Given the description of an element on the screen output the (x, y) to click on. 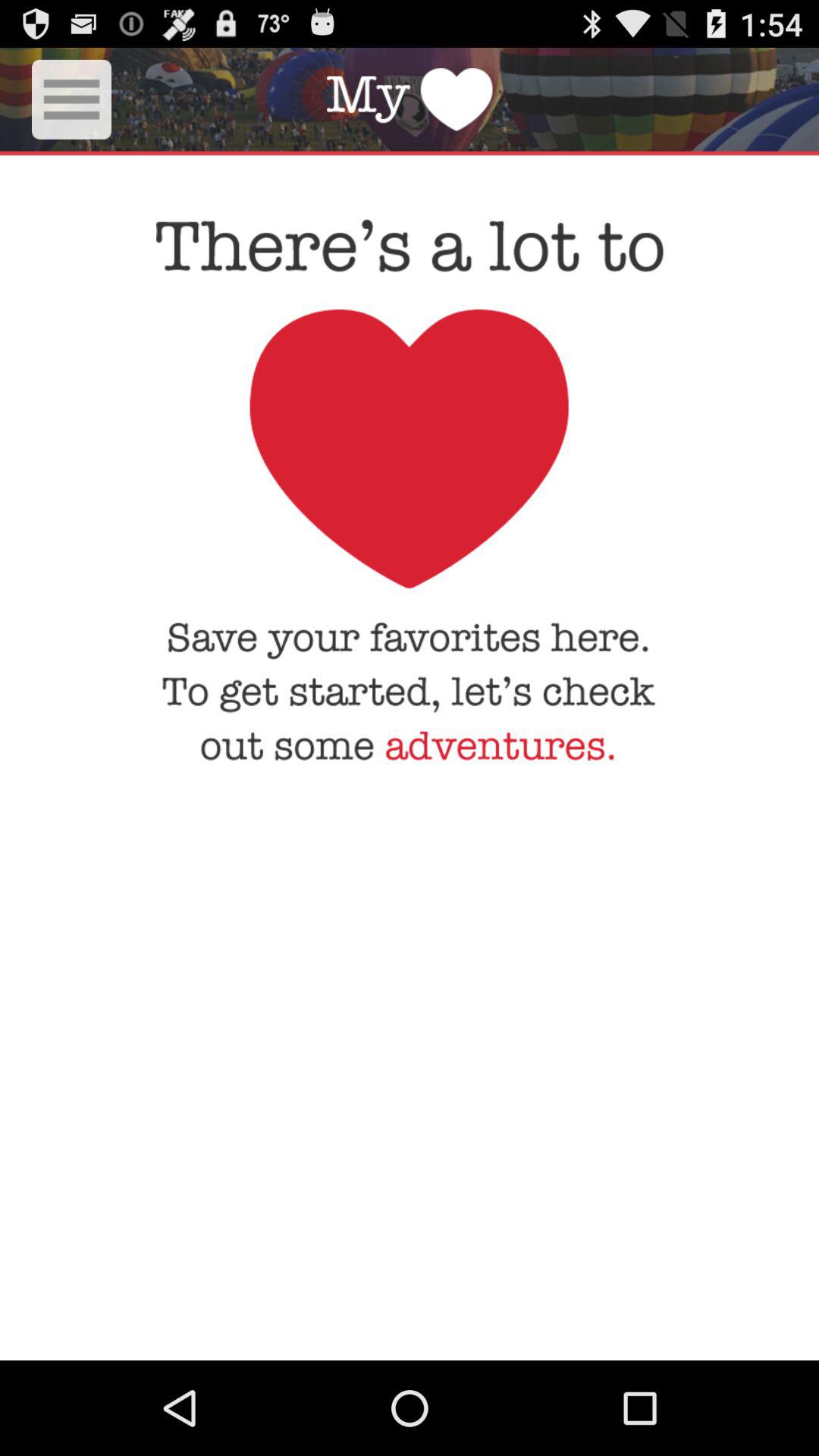
go to menu (71, 99)
